Given the description of an element on the screen output the (x, y) to click on. 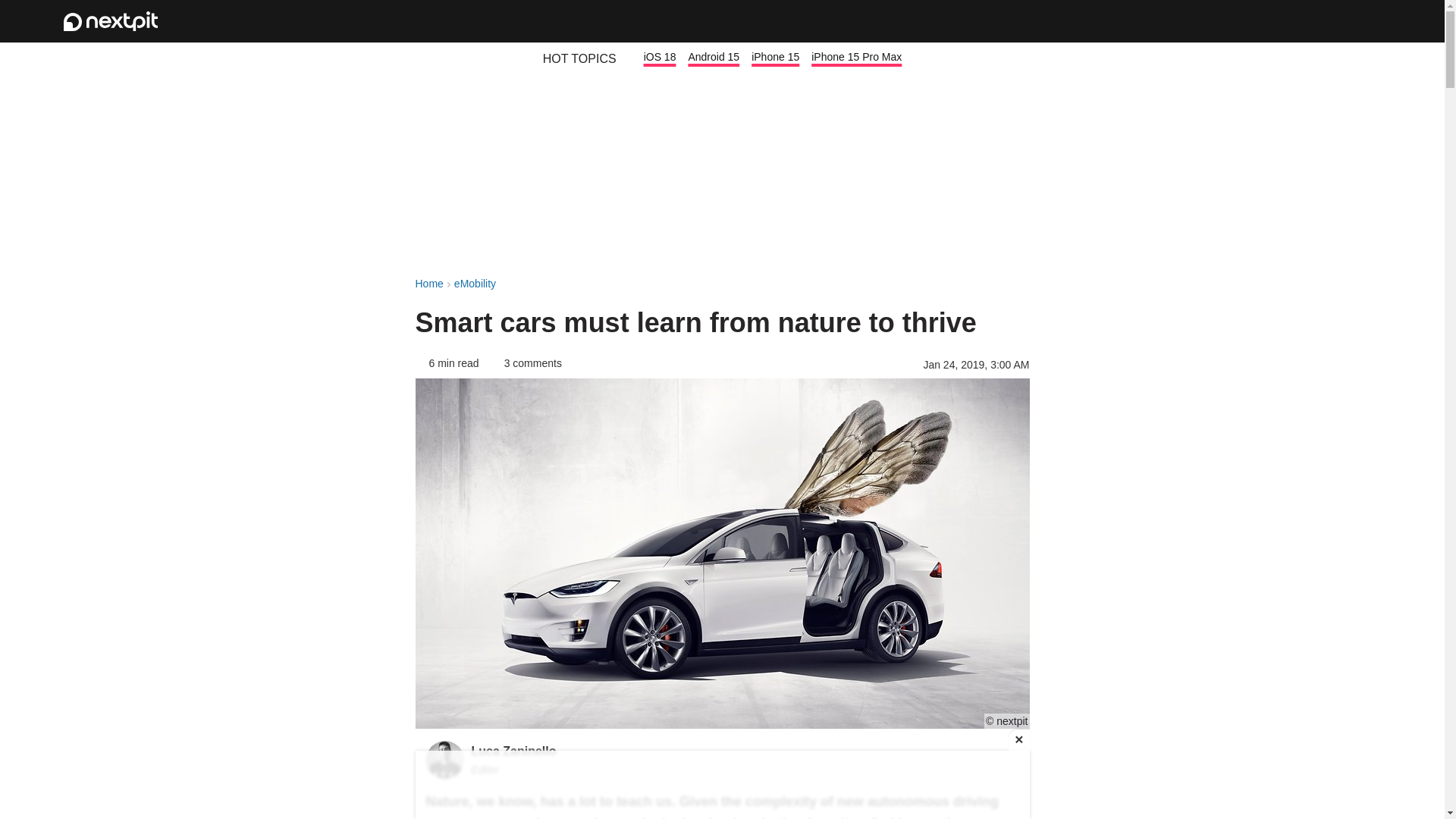
Login (1321, 21)
To the nextpit homepage (110, 21)
Jan 24, 2019, 3:00:00 AM (976, 365)
6 min read (446, 362)
